Given the description of an element on the screen output the (x, y) to click on. 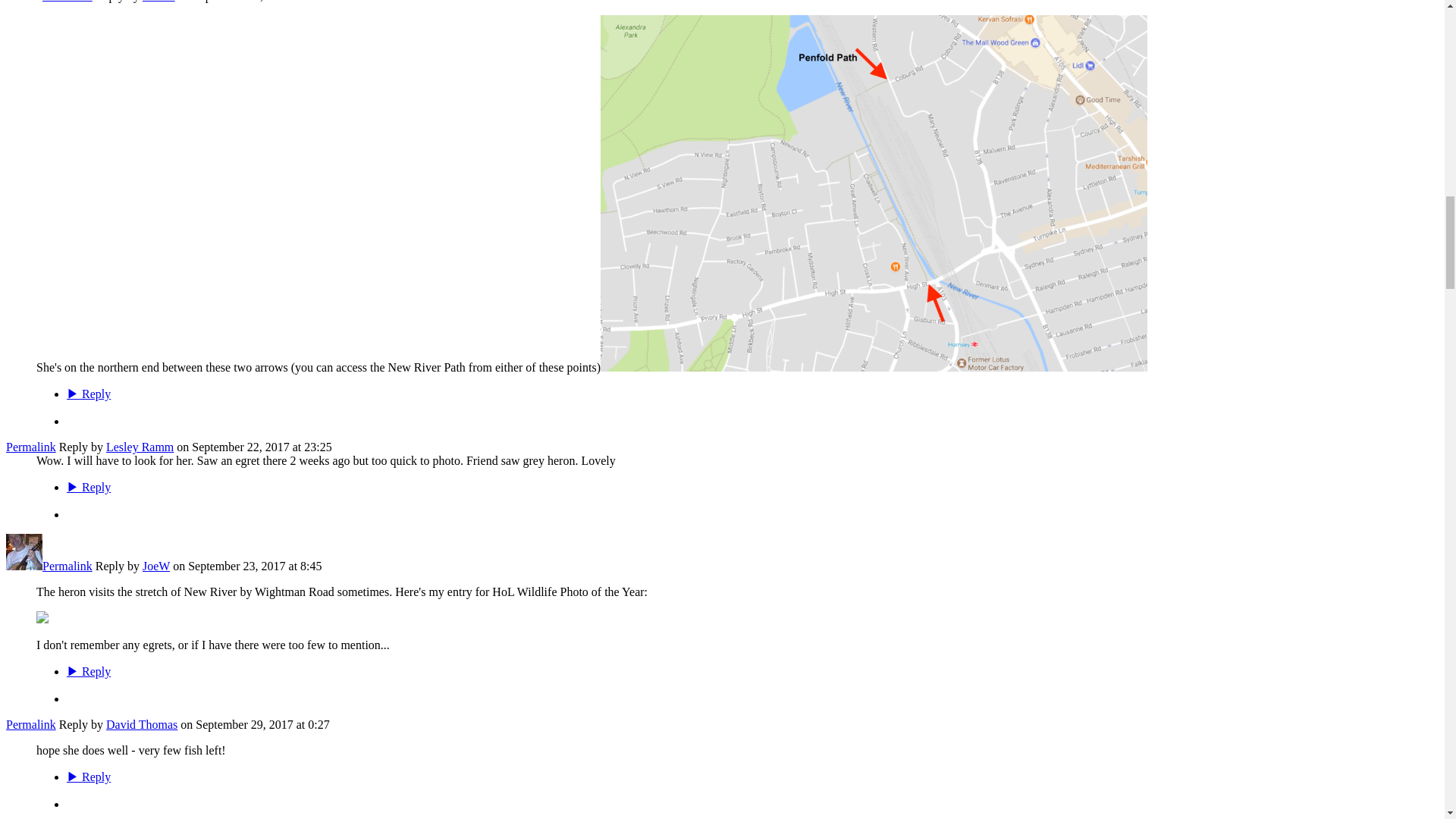
Permalink to this Reply (67, 1)
Permalink to this Reply (30, 446)
JoeW (23, 565)
Permalink to this Reply (67, 565)
EMC2 (23, 1)
Permalink to this Reply (30, 724)
